Given the description of an element on the screen output the (x, y) to click on. 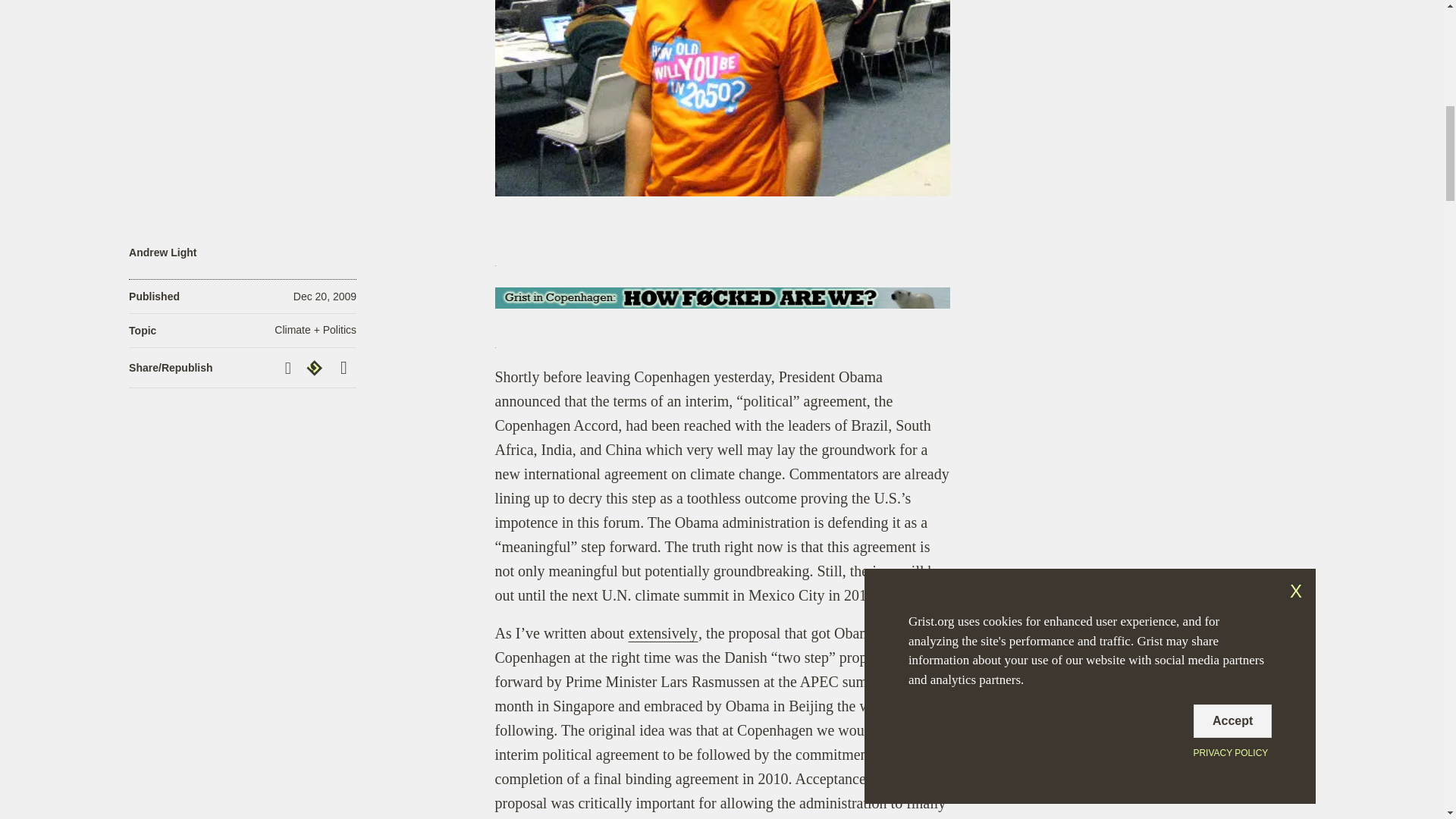
Republish the article (316, 367)
Copy article link (289, 367)
